Given the description of an element on the screen output the (x, y) to click on. 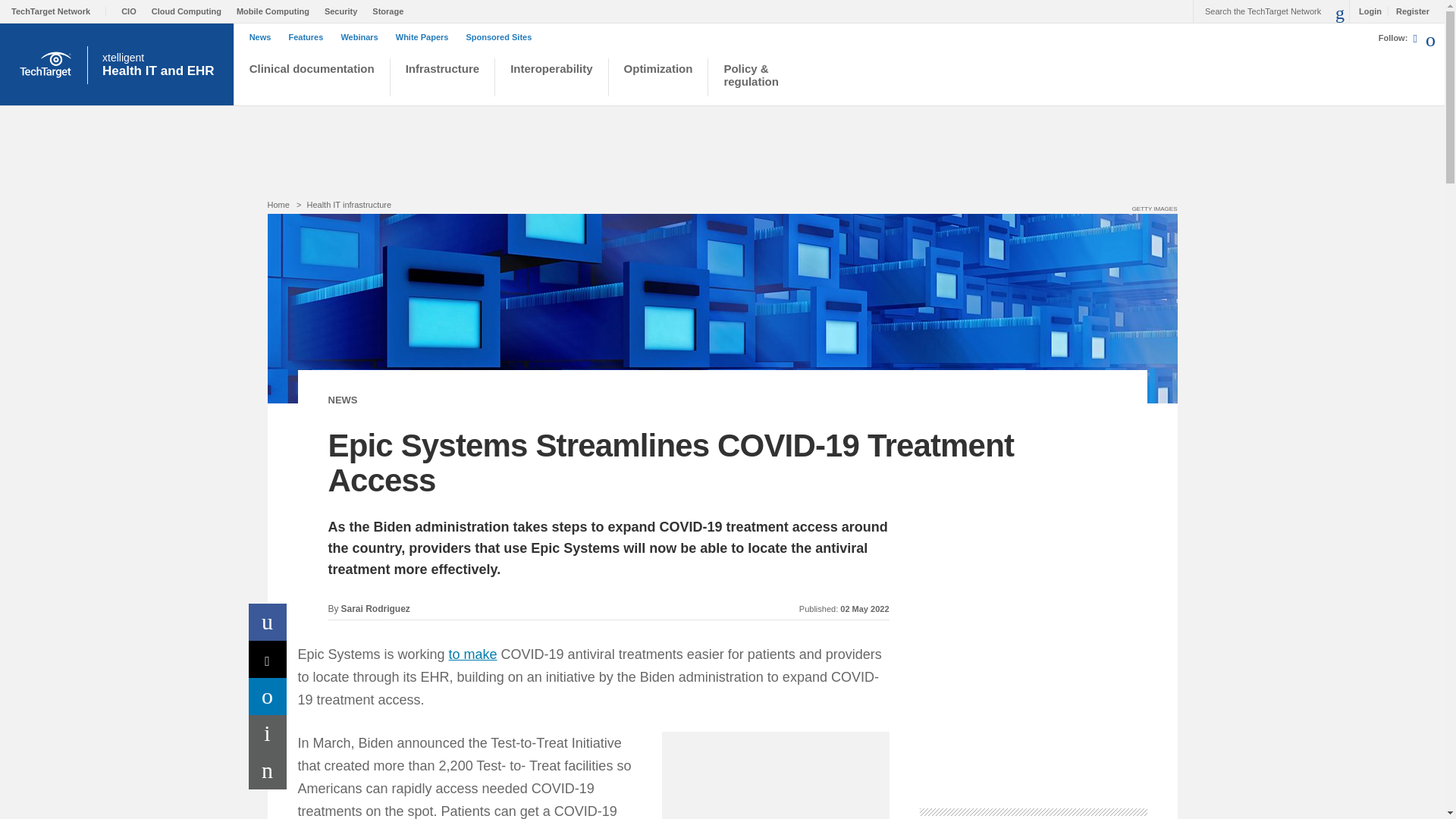
NEWS (161, 64)
Features (341, 399)
to make (309, 36)
Share on Facebook (472, 654)
Print This Page (267, 621)
Sponsored Sites (267, 733)
Share on X (501, 36)
Interoperability (267, 659)
Security (551, 79)
